Given the description of an element on the screen output the (x, y) to click on. 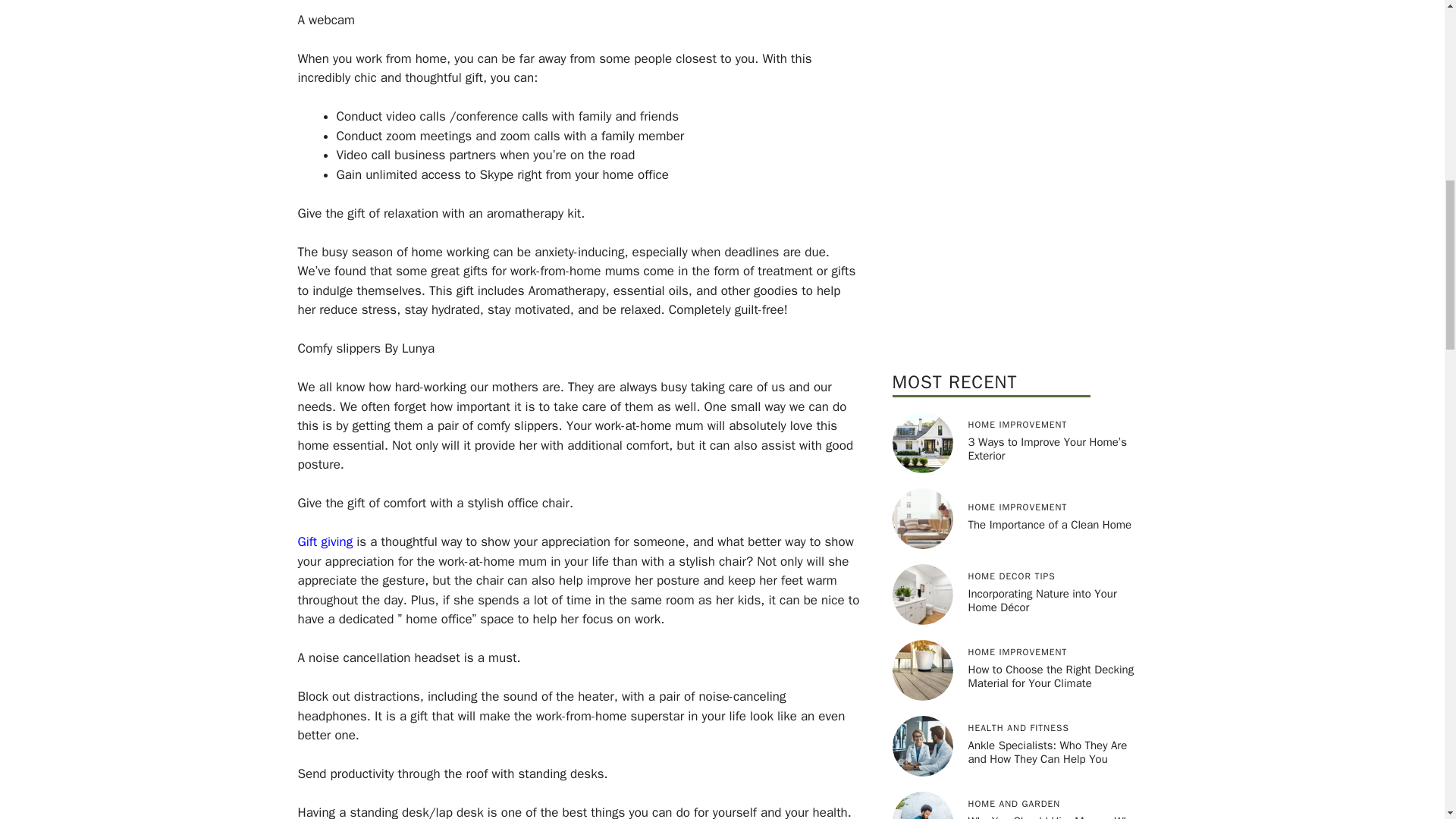
Scroll back to top (1406, 720)
